Given the description of an element on the screen output the (x, y) to click on. 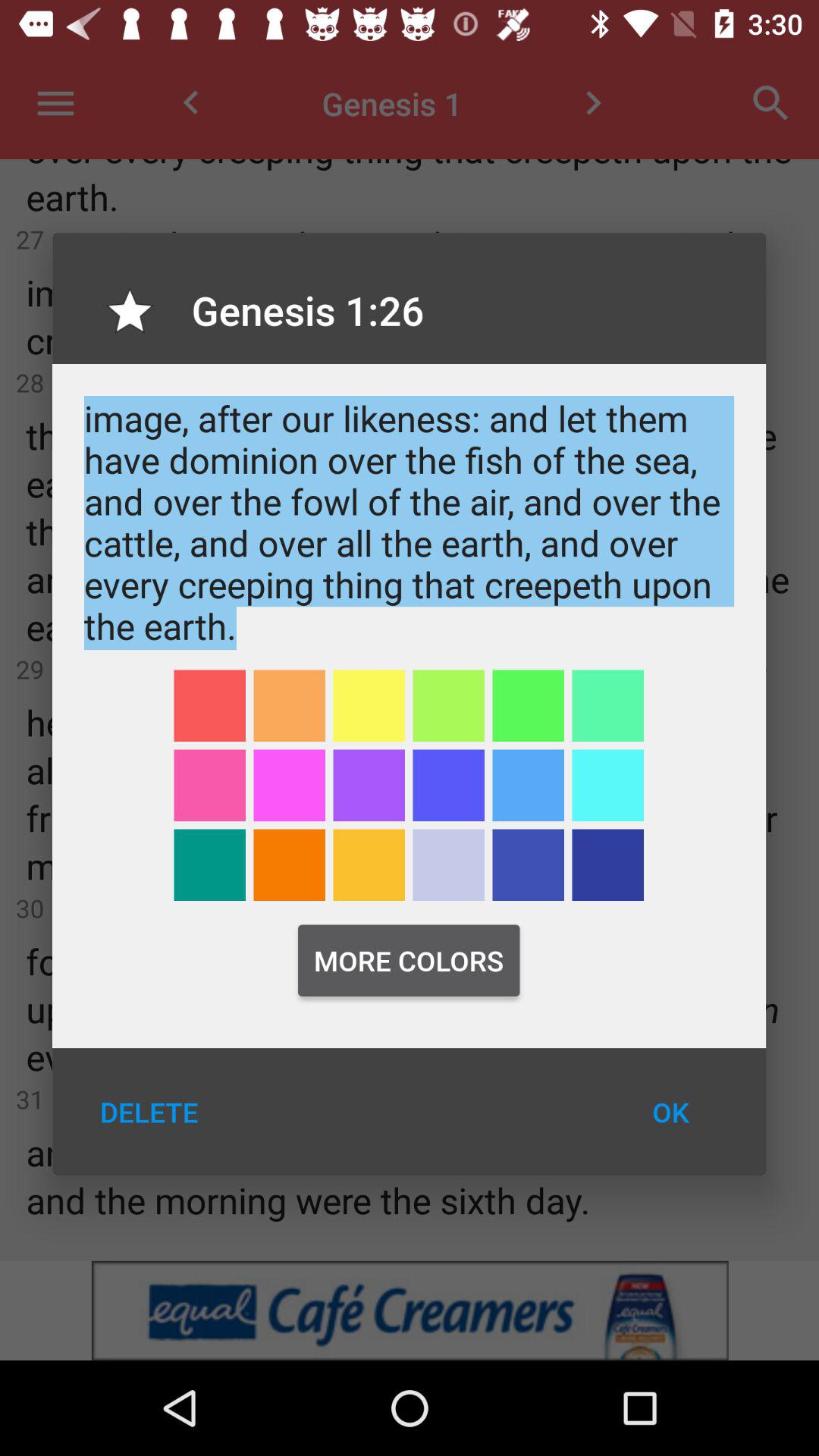
select highlight color (368, 705)
